Given the description of an element on the screen output the (x, y) to click on. 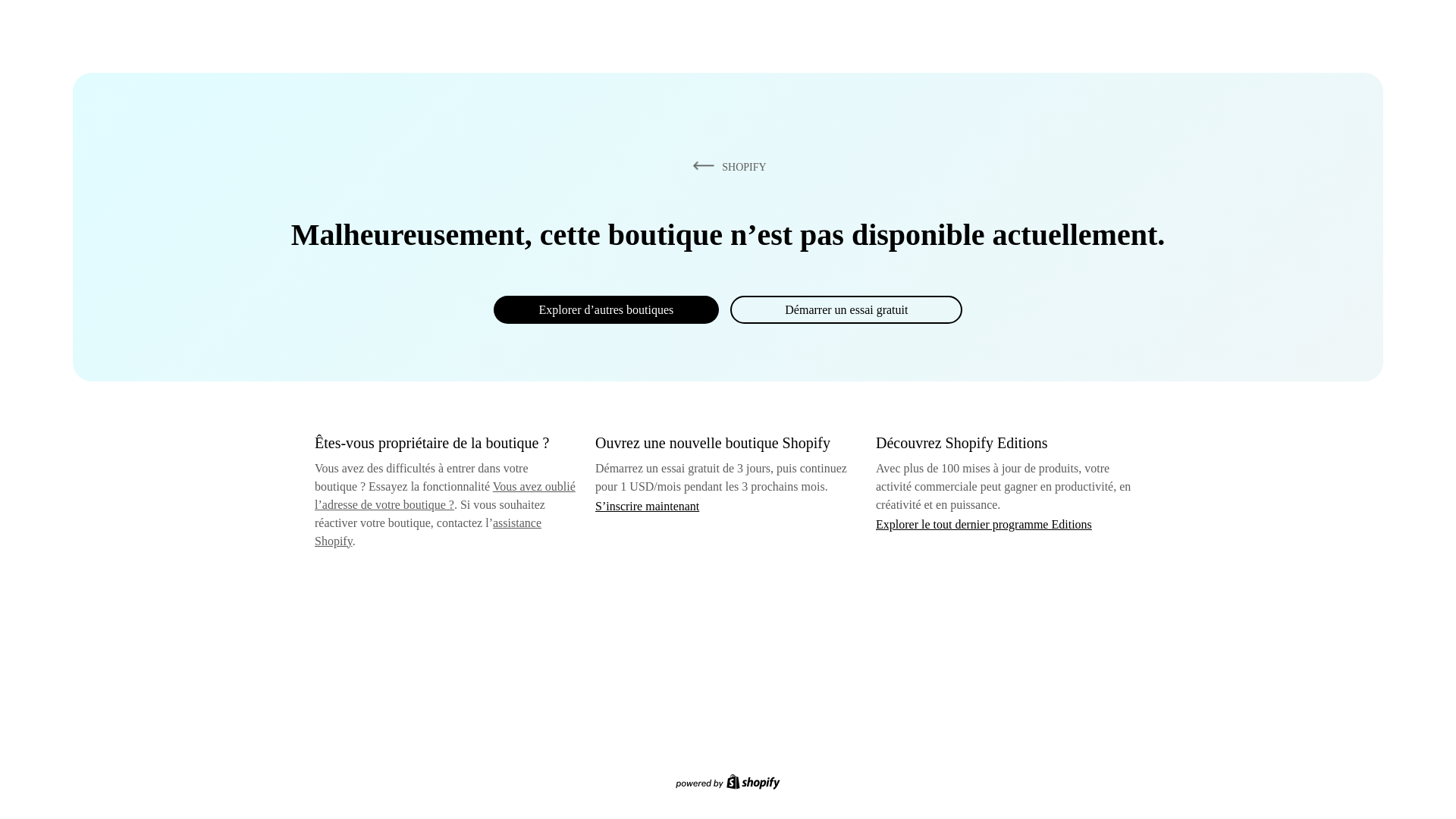
Explorer le tout dernier programme Editions (984, 523)
SHOPIFY (726, 166)
assistance Shopify (427, 531)
